Given the description of an element on the screen output the (x, y) to click on. 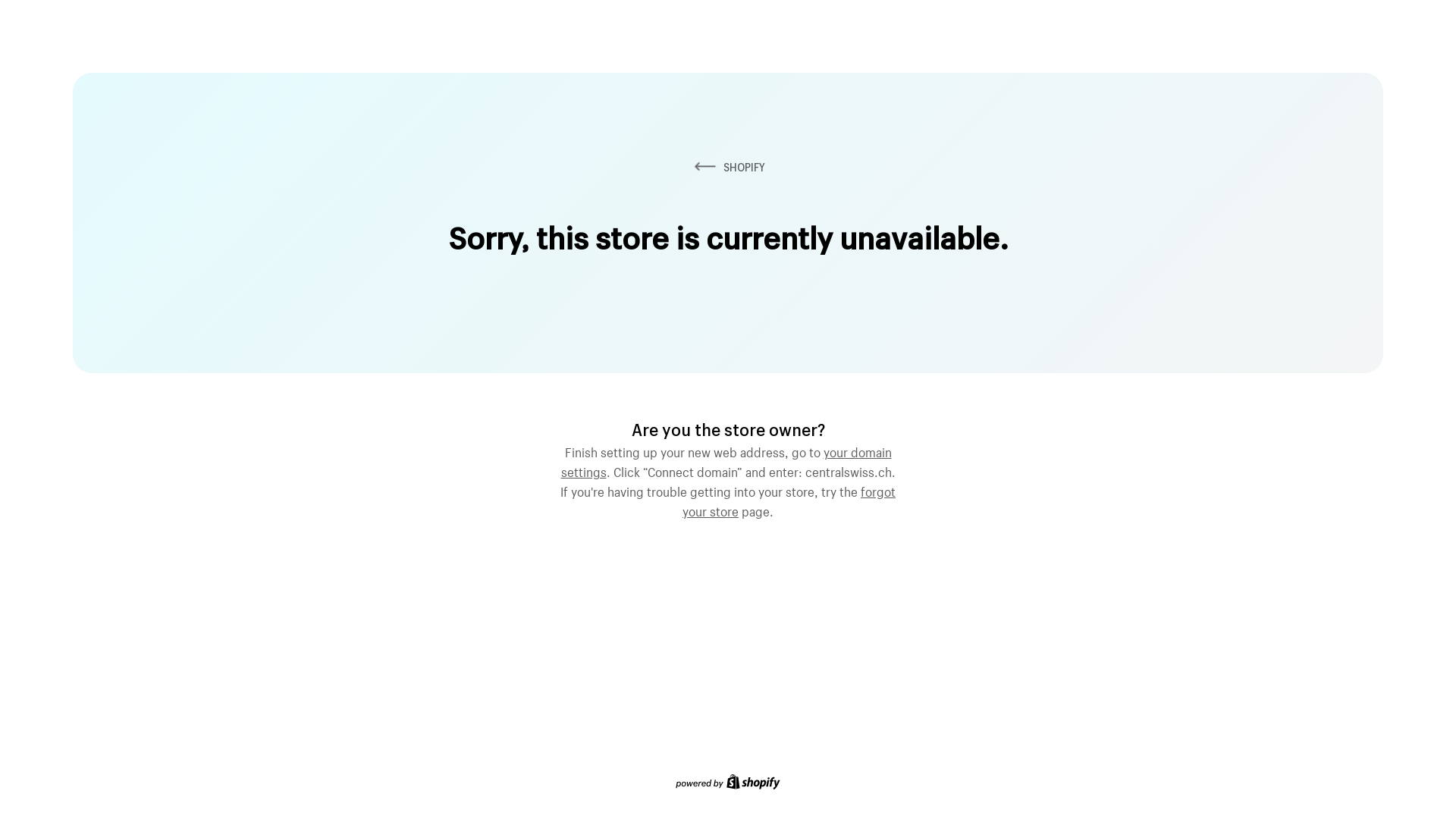
forgot your store Element type: text (788, 499)
SHOPIFY Element type: text (727, 167)
your domain settings Element type: text (726, 460)
